Given the description of an element on the screen output the (x, y) to click on. 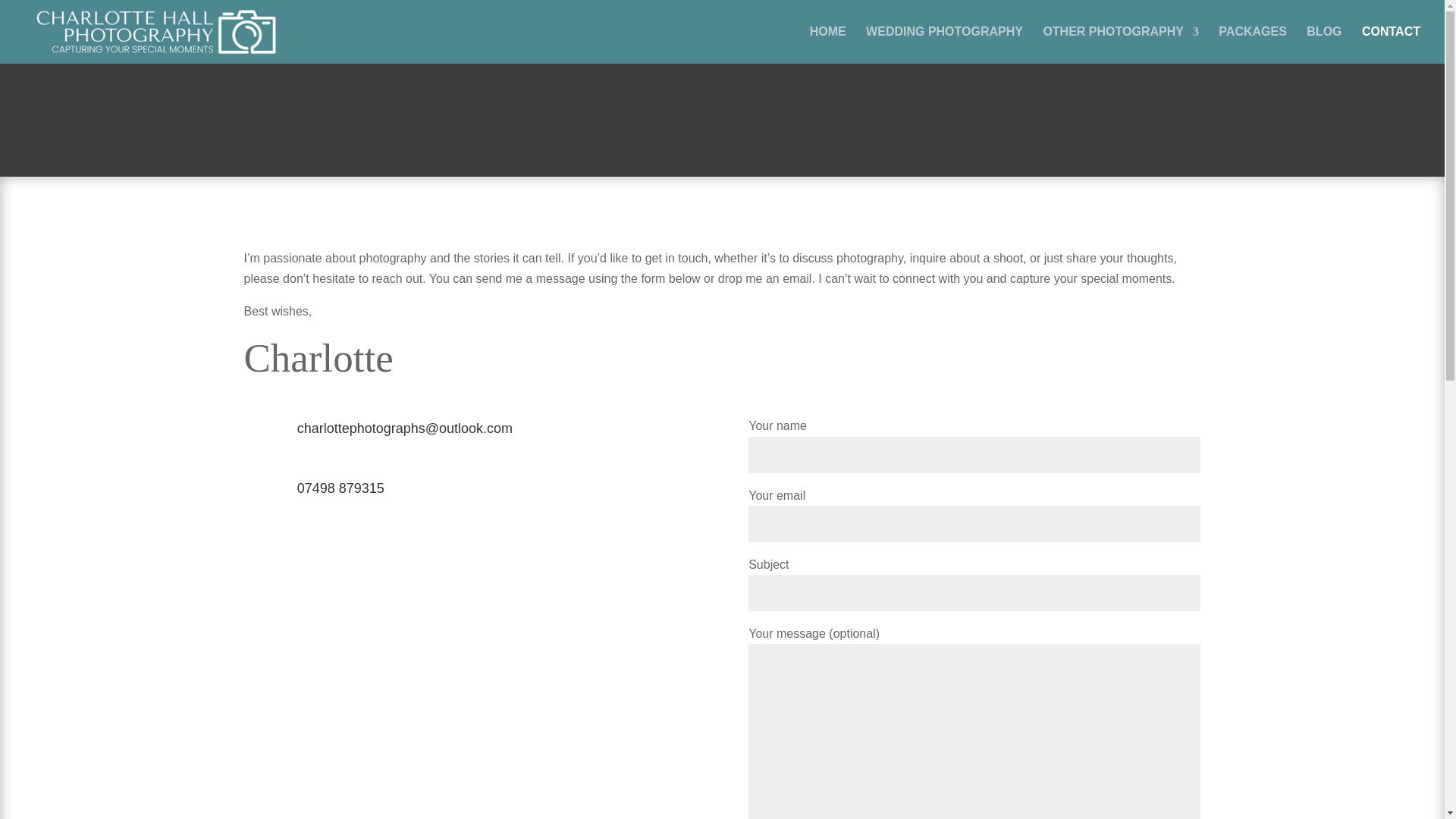
WEDDING PHOTOGRAPHY (944, 44)
OTHER PHOTOGRAPHY (1120, 44)
BLOG (1323, 44)
CONTACT (1391, 44)
PACKAGES (1252, 44)
07498 879315 (340, 488)
HOME (827, 44)
